Given the description of an element on the screen output the (x, y) to click on. 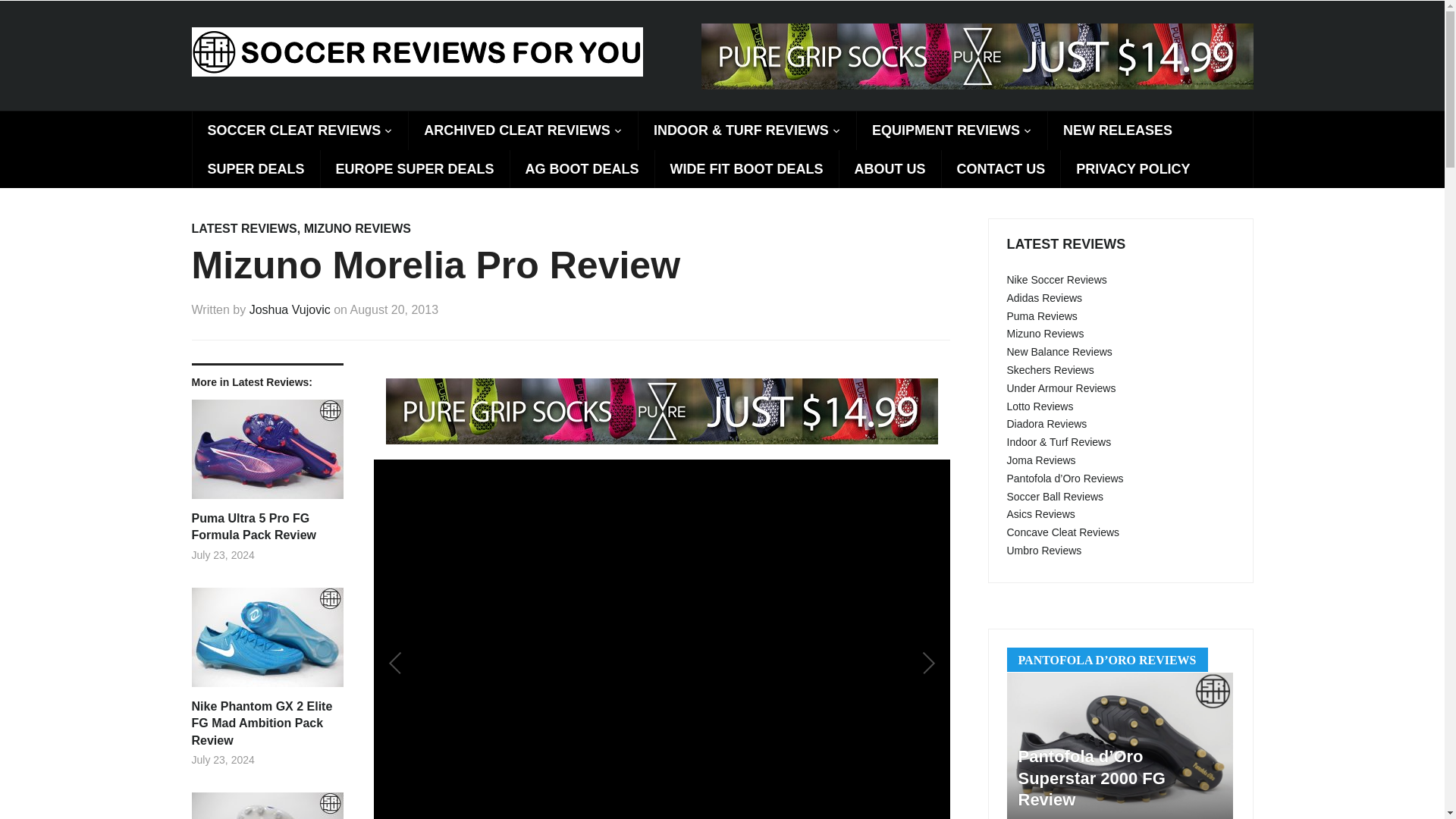
Permalink to Puma Ultra 5 Pro FG Formula Pack Review (266, 527)
Permalink to Puma Ultra 5 Pro FG Formula Pack Review (266, 454)
